Given the description of an element on the screen output the (x, y) to click on. 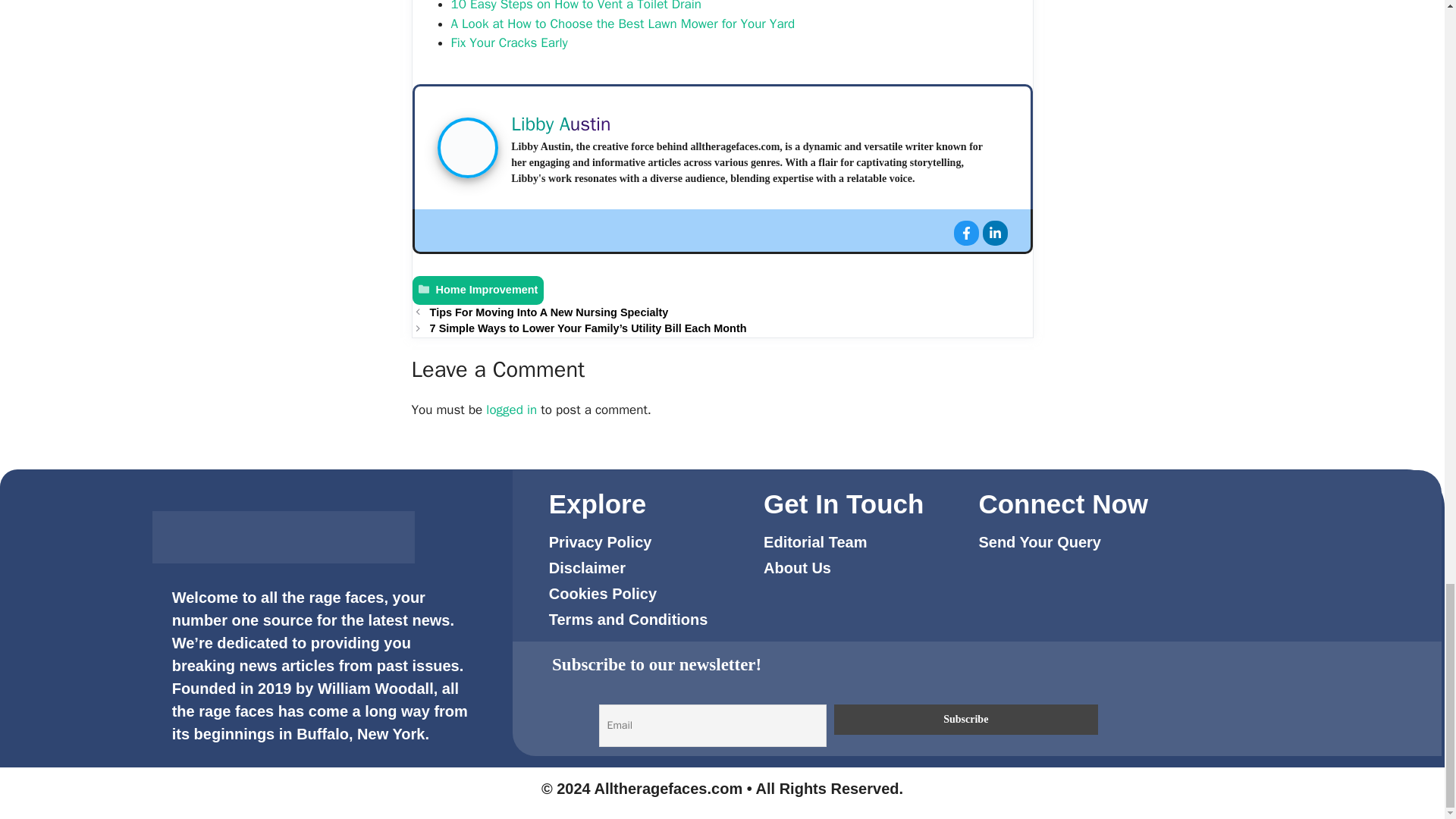
Fix Your Cracks Early (508, 42)
Subscribe (965, 719)
A Look at How to Choose the Best Lawn Mower for Your Yard (621, 23)
10 Easy Steps on How to Vent a Toilet Drain (574, 6)
